Given the description of an element on the screen output the (x, y) to click on. 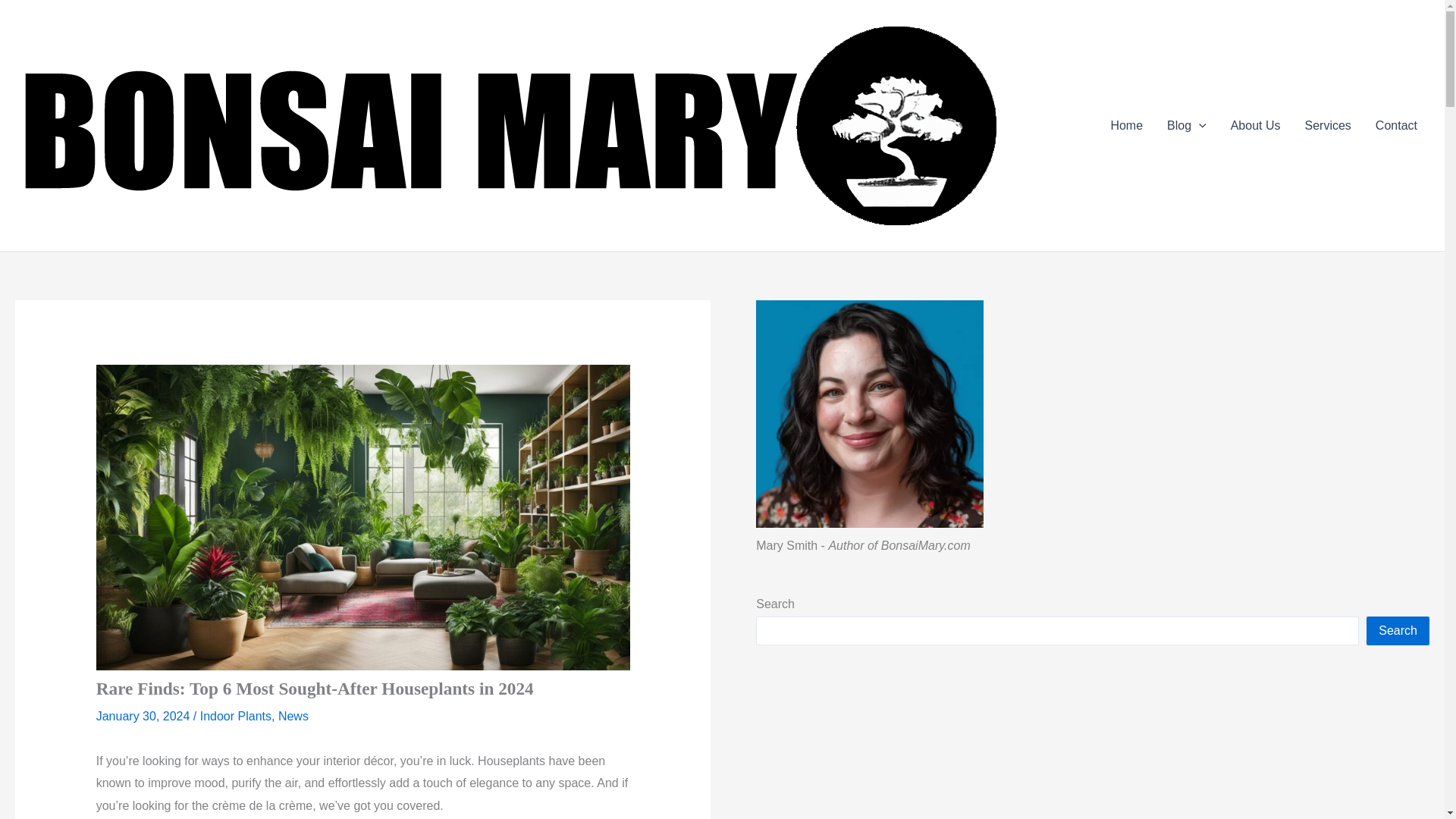
Home (1125, 125)
Services (1327, 125)
About Us (1255, 125)
Blog (1186, 125)
Contact (1395, 125)
